Given the description of an element on the screen output the (x, y) to click on. 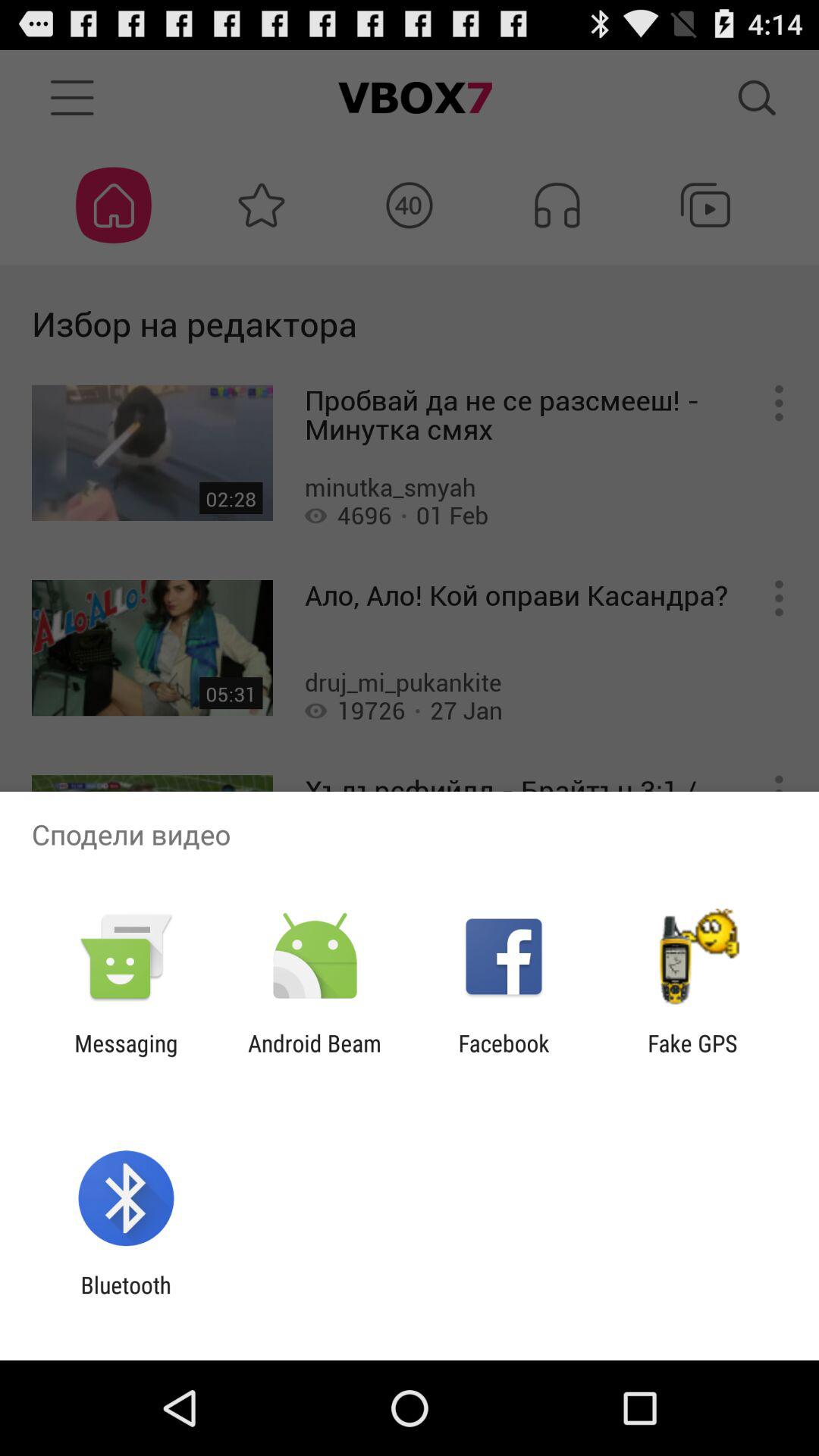
turn off the bluetooth (125, 1298)
